Given the description of an element on the screen output the (x, y) to click on. 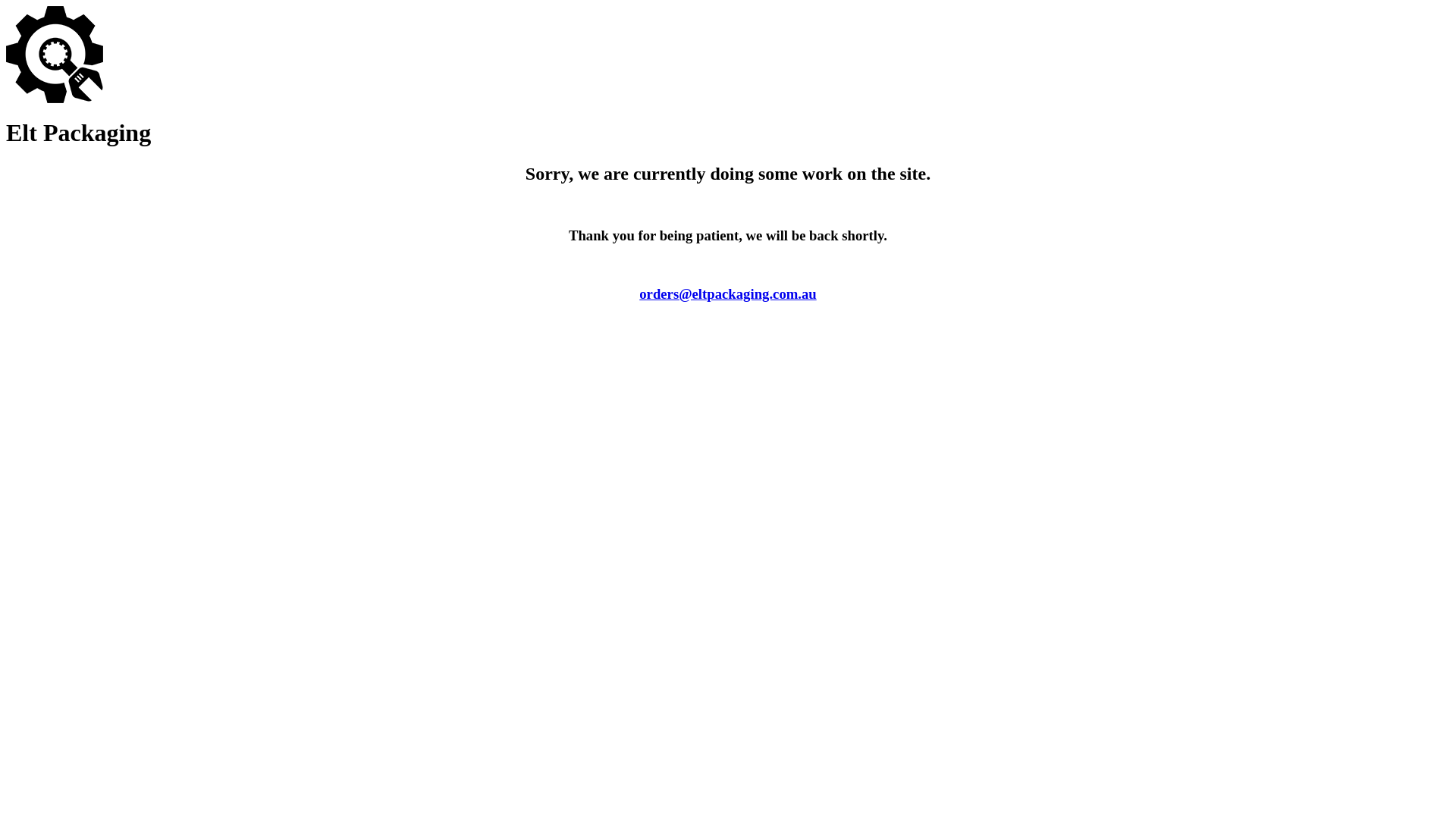
orders@eltpackaging.com.au Element type: text (727, 293)
Site is Under Construction Element type: hover (54, 54)
